Given the description of an element on the screen output the (x, y) to click on. 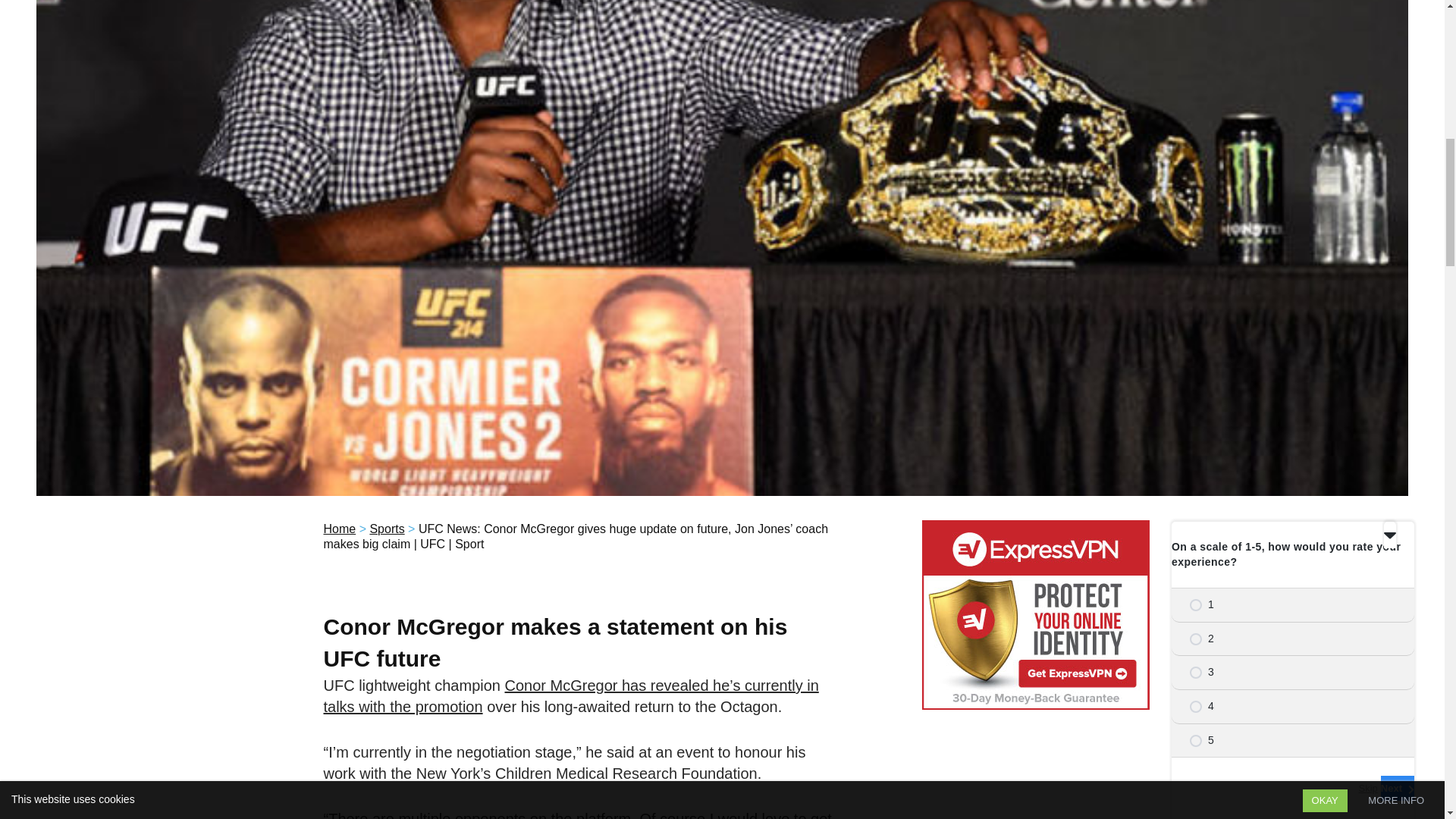
Sports (386, 528)
Home (339, 528)
